Given the description of an element on the screen output the (x, y) to click on. 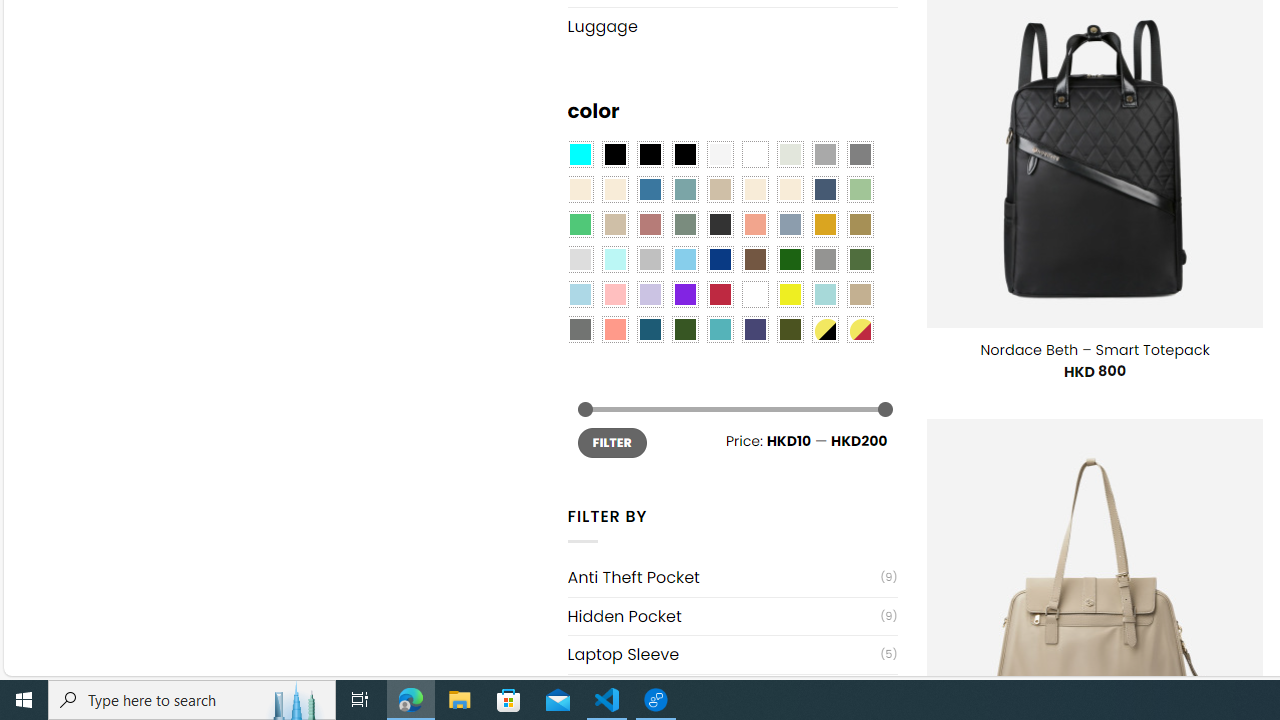
Luggage (732, 25)
Emerald Green (579, 224)
Silver (650, 259)
Black (650, 154)
Dull Nickle (579, 329)
Brownie (719, 190)
USB Charging Port (723, 693)
Hale Navy (824, 190)
Gold (824, 224)
Anti Theft Pocket (723, 577)
Light Blue (579, 295)
Gray (824, 259)
Yellow-Black (824, 329)
Ash Gray (789, 154)
Pink (614, 295)
